Given the description of an element on the screen output the (x, y) to click on. 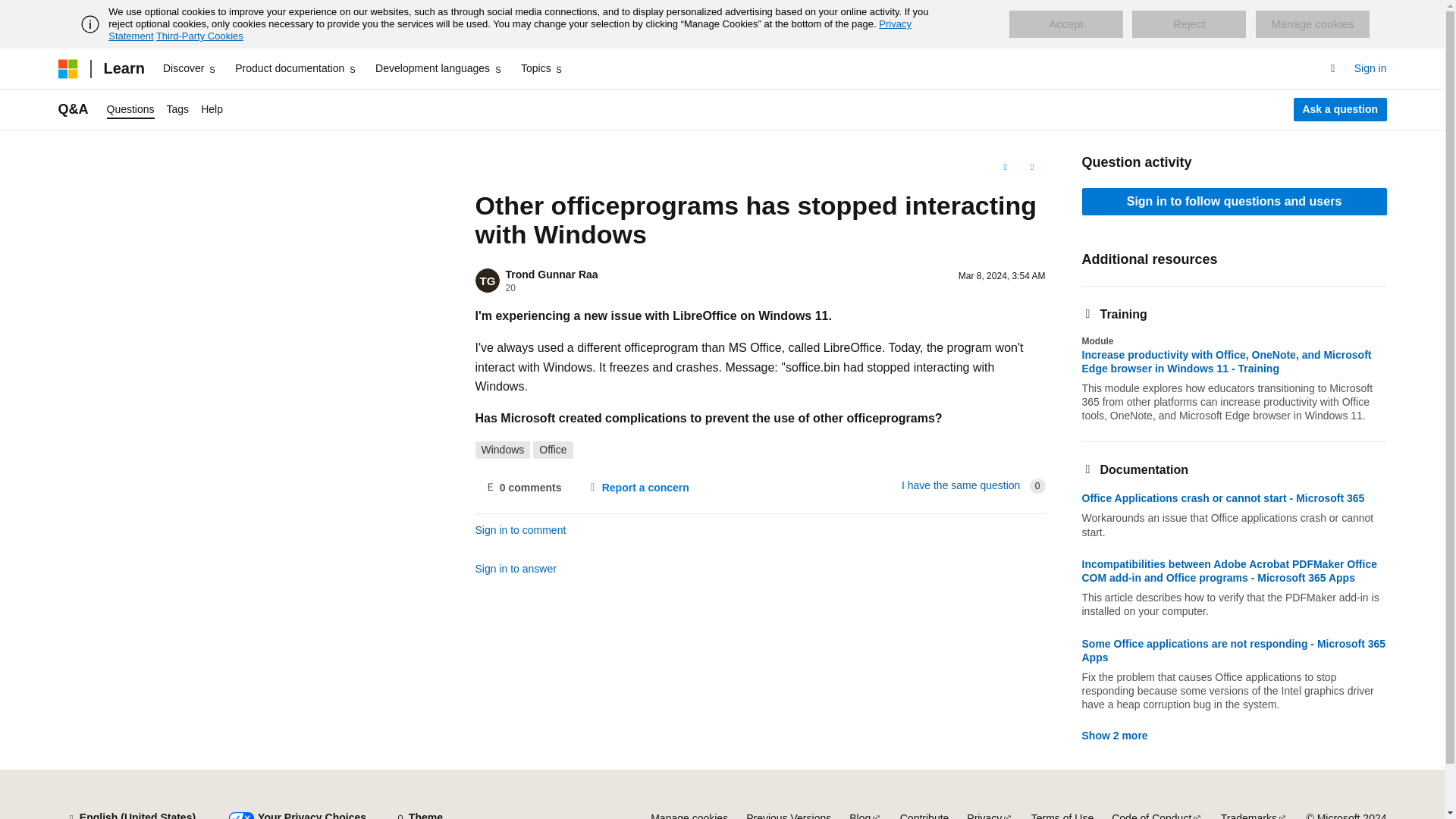
Product documentation (295, 68)
Sign in (1370, 68)
Theme (419, 812)
Privacy Statement (509, 29)
Trond Gunnar Raa (550, 274)
Reject (1189, 23)
Topics (542, 68)
Accept (1065, 23)
Report a concern (637, 487)
Questions (130, 109)
